Given the description of an element on the screen output the (x, y) to click on. 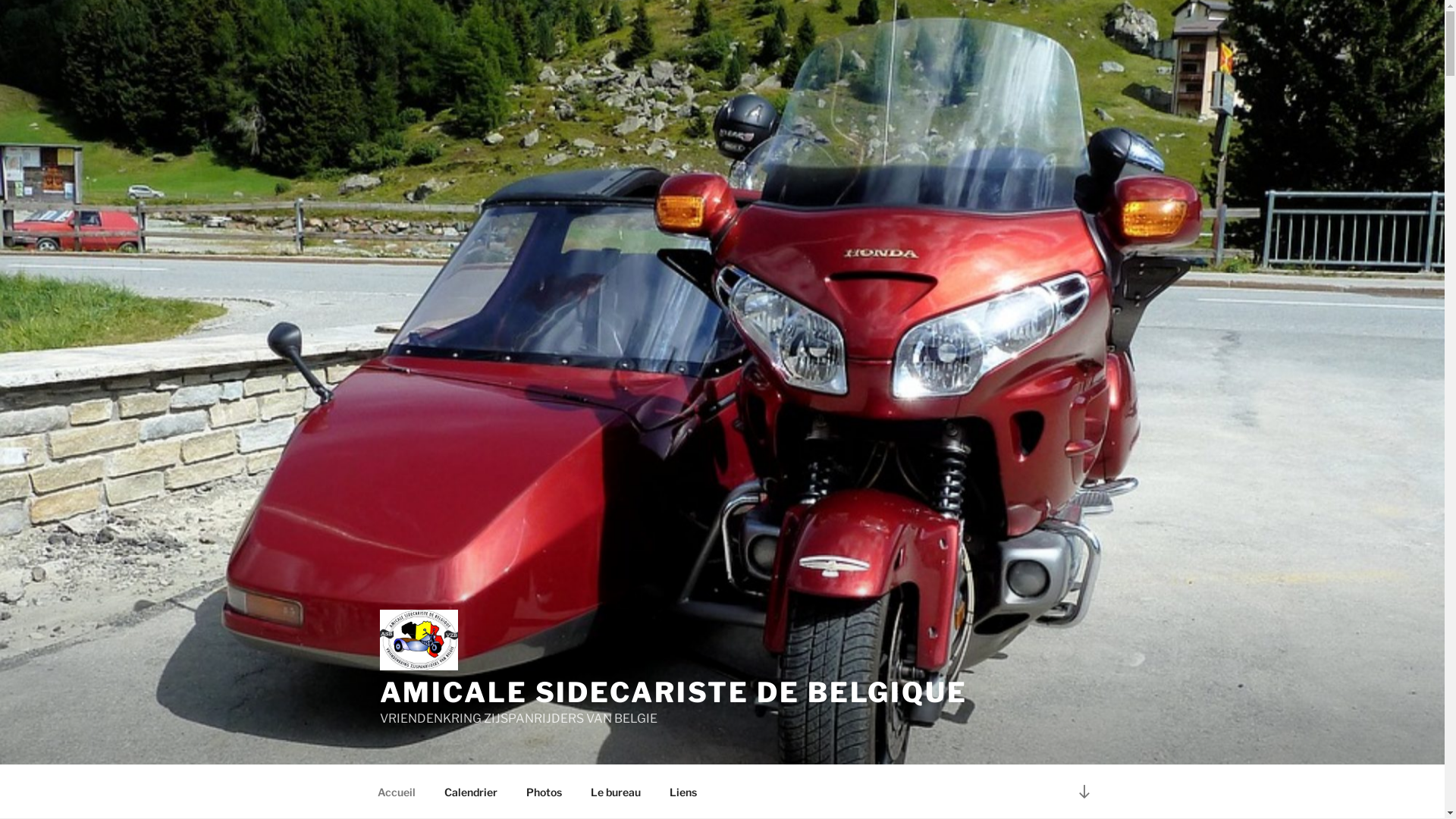
Photos Element type: text (543, 791)
Descendre au contenu Element type: text (1083, 790)
Accueil Element type: text (396, 791)
Liens Element type: text (683, 791)
Calendrier Element type: text (470, 791)
AMICALE SIDECARISTE DE BELGIQUE Element type: text (672, 692)
Le bureau Element type: text (615, 791)
